Given the description of an element on the screen output the (x, y) to click on. 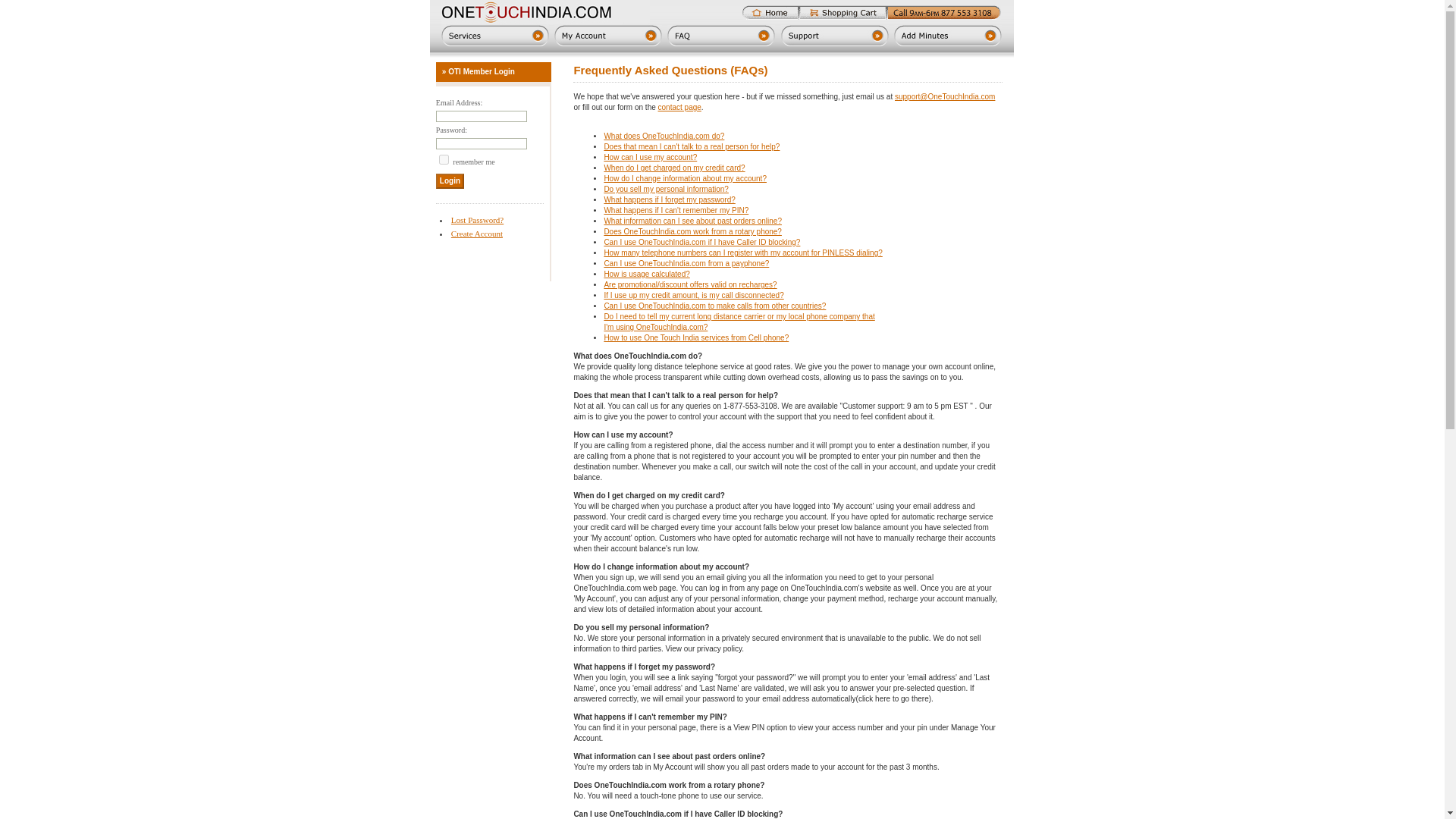
Login (449, 181)
Login (449, 181)
What happens if I can't remember my PIN? (676, 210)
Create Account (476, 233)
What happens if I forget my password? (669, 199)
When do I get charged on my credit card? (674, 167)
1 (443, 159)
Lost Password? (477, 219)
